Given the description of an element on the screen output the (x, y) to click on. 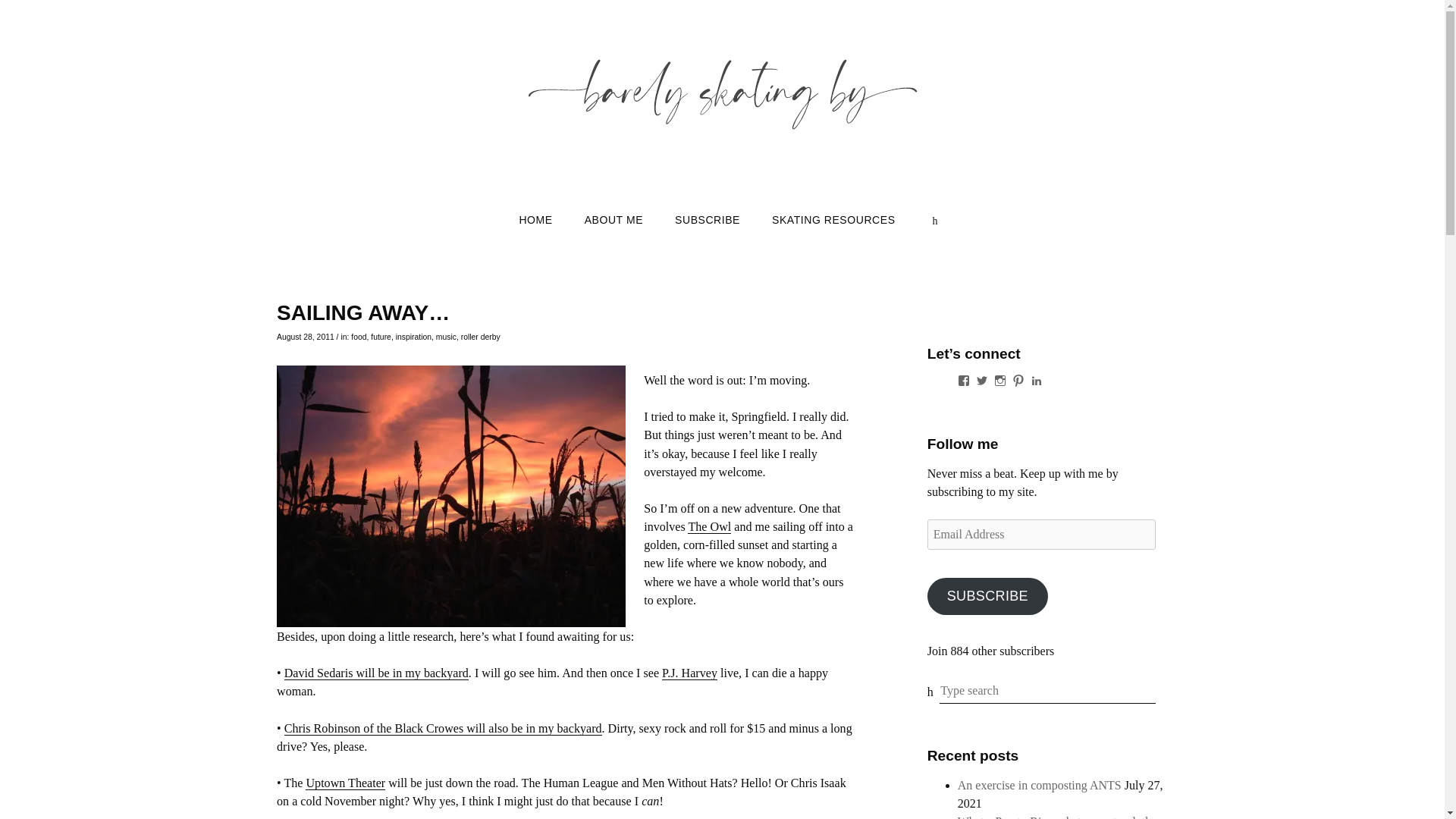
cfiles34582 (451, 496)
Uptown Theater (345, 783)
P.J. Harvey (689, 673)
David Sedaris will be in my backyard (375, 673)
food (358, 336)
SUBSCRIBE (707, 219)
Barely skating by (721, 180)
roller derby (480, 336)
August 28, 2011 (305, 336)
music (446, 336)
